Given the description of an element on the screen output the (x, y) to click on. 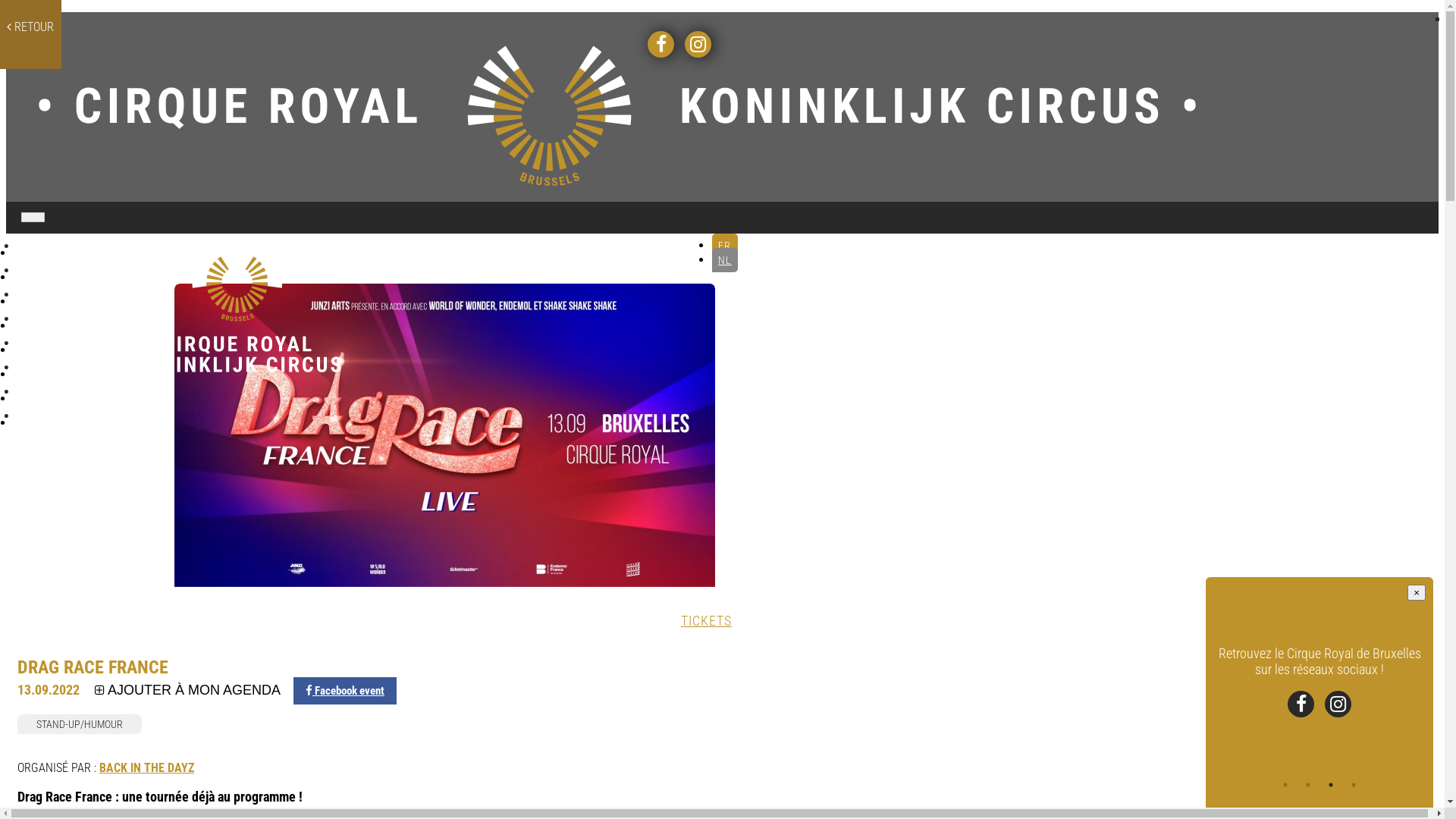
STAND-UP/HUMOUR Element type: text (83, 726)
LES SALLES Element type: text (93, 298)
PRO Element type: text (93, 395)
INFOS PRATIQUES Element type: text (93, 322)
4 Element type: text (1353, 784)
BACK IN THE DAYZ Element type: text (146, 767)
NL Element type: text (724, 259)
TICKETS Element type: text (706, 619)
Facebook event Element type: text (344, 690)
AGENDA Element type: text (93, 274)
ACCUEIL Element type: text (93, 250)
1 Element type: text (1284, 784)
2 Element type: text (1307, 784)
HISTORIQUE Element type: text (93, 347)
FR Element type: text (724, 245)
Toggle navigation Element type: text (40, 220)
3 Element type: text (1330, 784)
